Given the description of an element on the screen output the (x, y) to click on. 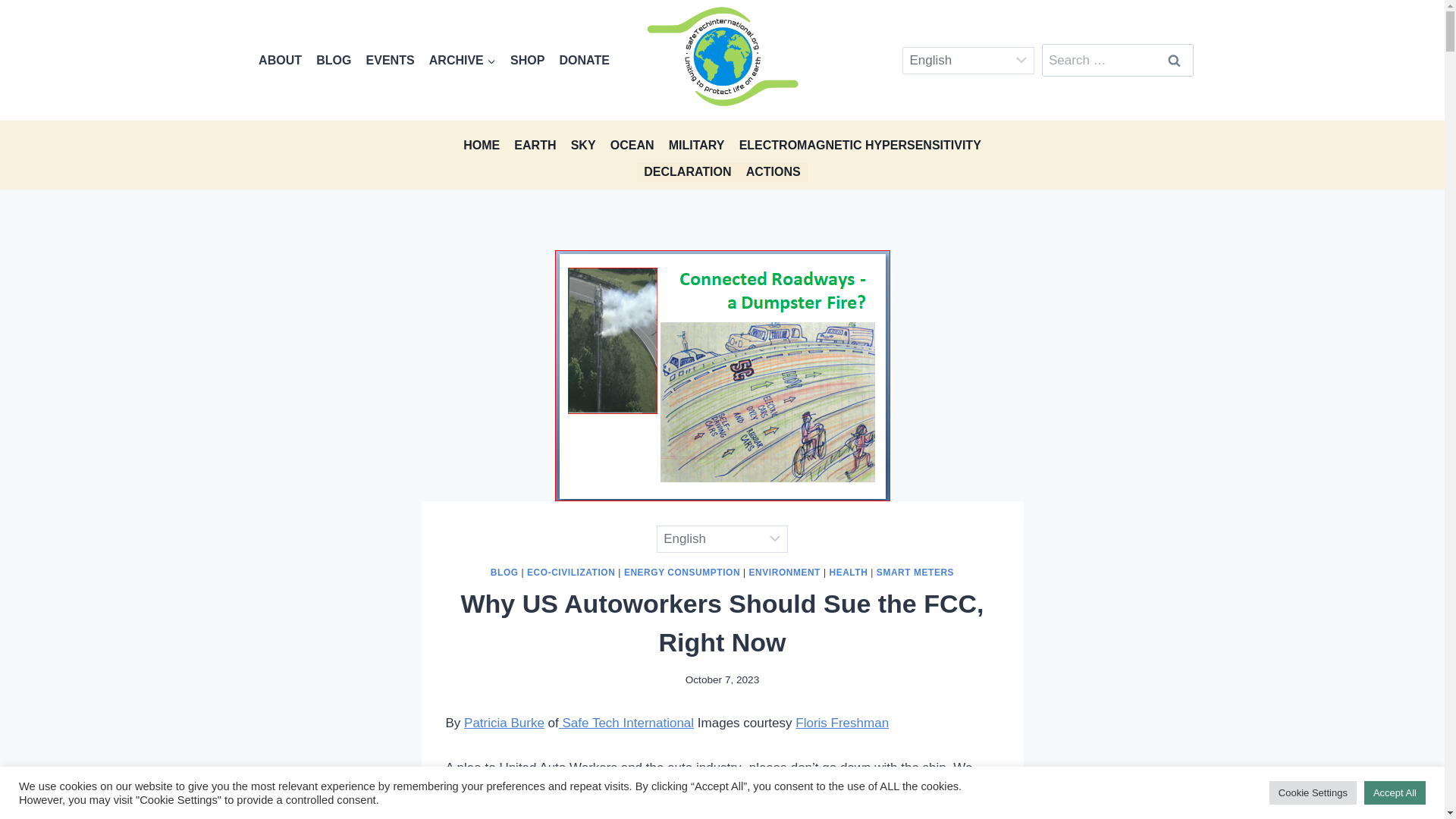
ACTIONS (773, 171)
BLOG (504, 572)
Search (1174, 60)
ELECTROMAGNETIC HYPERSENSITIVITY (860, 144)
MILITARY (696, 144)
HOME (481, 144)
ARCHIVE (462, 60)
EVENTS (390, 60)
OCEAN (631, 144)
DONATE (584, 60)
ECO-CIVILIZATION (570, 572)
SKY (582, 144)
Search (1174, 60)
ABOUT (279, 60)
Search (1174, 60)
